Given the description of an element on the screen output the (x, y) to click on. 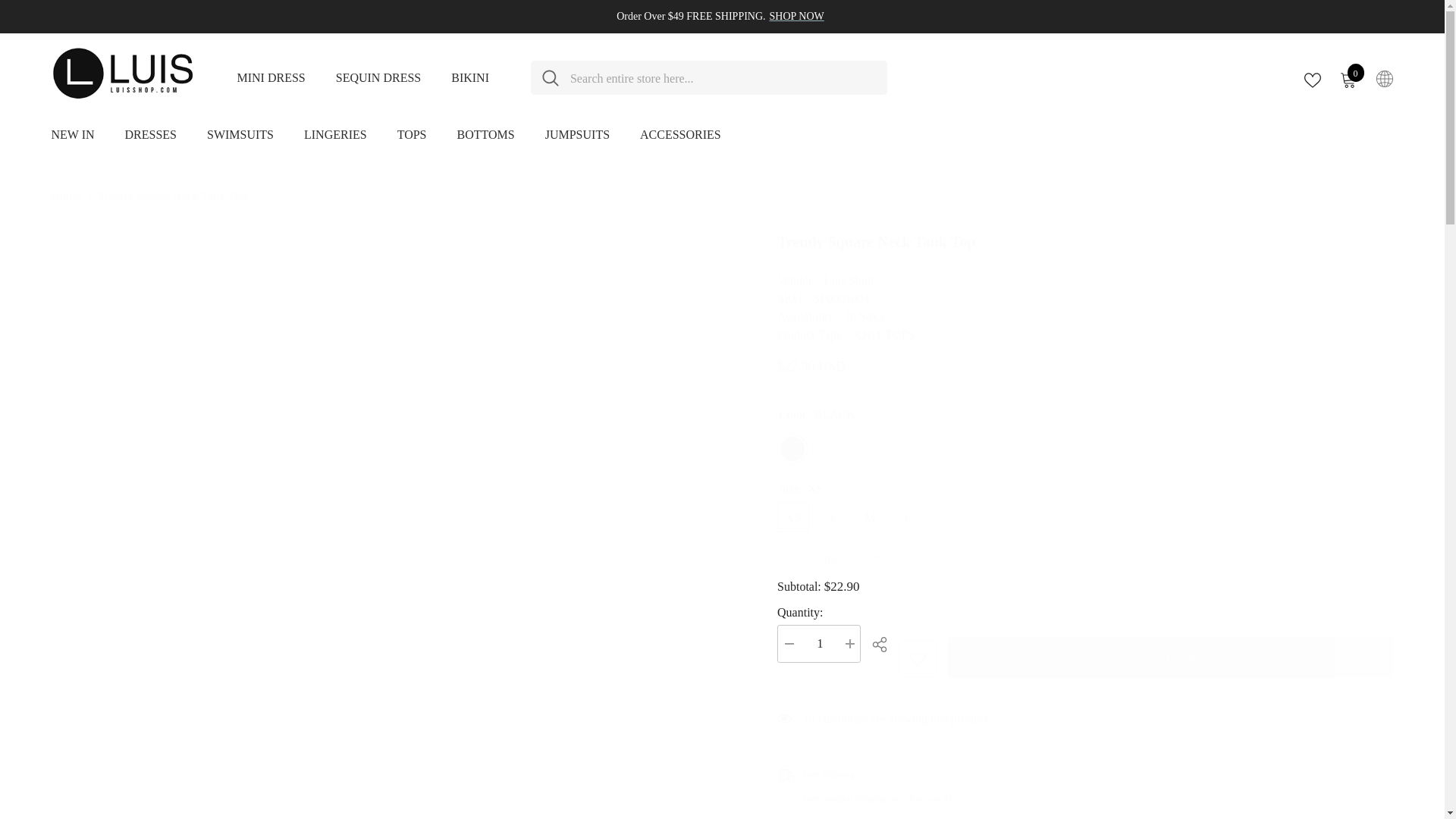
MINI DRESS (269, 77)
Trendy Square Neck Tank Top (1085, 245)
Sequin Dresses (1347, 78)
SHOP NOW (378, 77)
Mini Dress (797, 16)
Add To Cart (269, 77)
Add to wishlist (1170, 657)
SEQUIN DRESS (917, 658)
BIKINI (1085, 566)
Luis Shop (1085, 472)
